Given the description of an element on the screen output the (x, y) to click on. 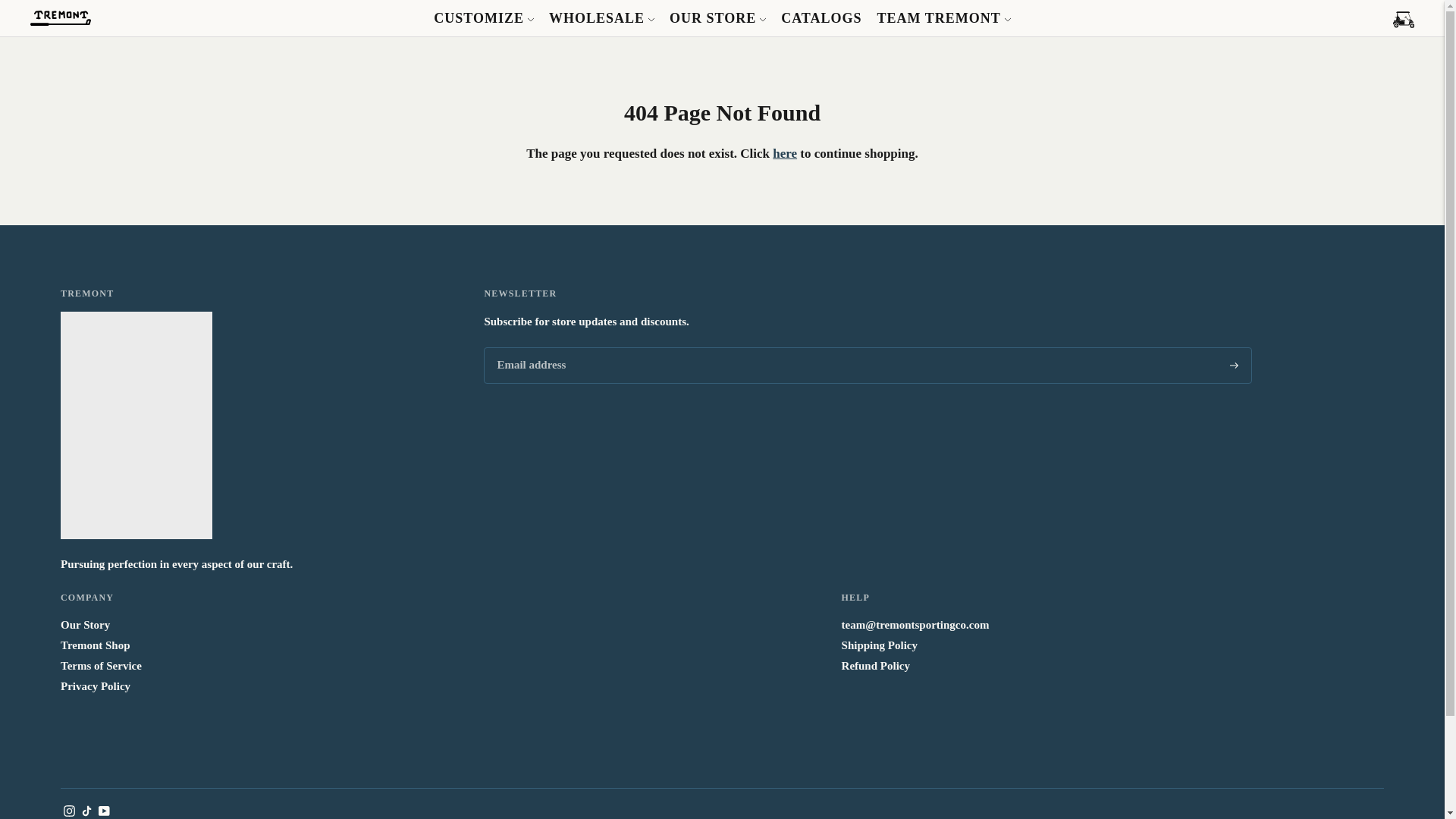
CUSTOMIZE (483, 18)
Tremont Sporting Co. on Instagram (69, 812)
Tremont Sporting Co. on TikTok (87, 812)
OUR STORE (717, 18)
Tremont Sporting Co. on YouTube (104, 812)
WHOLESALE (600, 18)
